Given the description of an element on the screen output the (x, y) to click on. 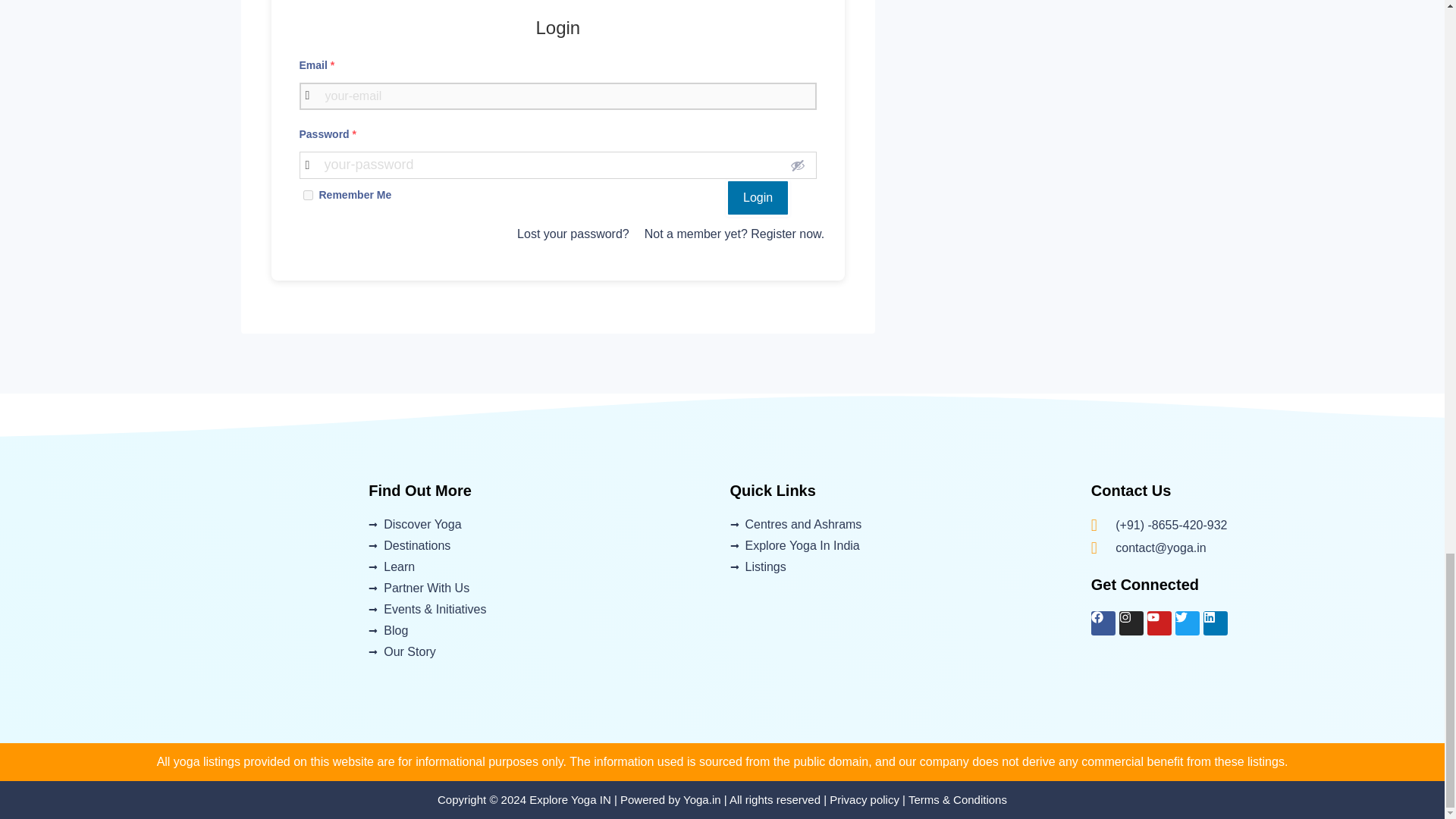
forever (307, 194)
Login (757, 198)
Not a member yet? Register now. (734, 233)
Lost your password? (572, 233)
Login (757, 198)
